Given the description of an element on the screen output the (x, y) to click on. 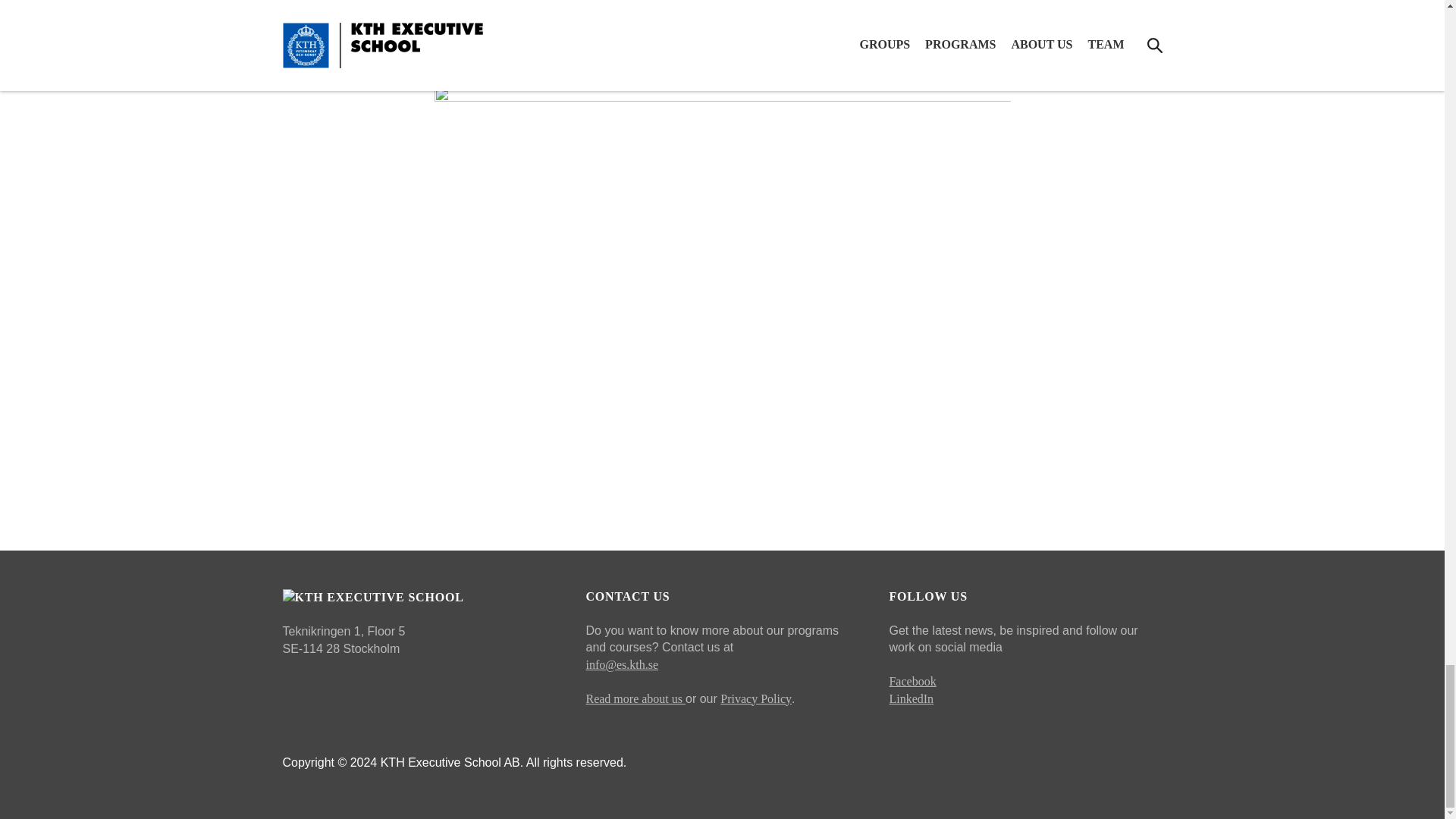
Facebook (912, 680)
LinkedIn (910, 698)
Read more about us (635, 698)
Privacy Policy (756, 698)
